Given the description of an element on the screen output the (x, y) to click on. 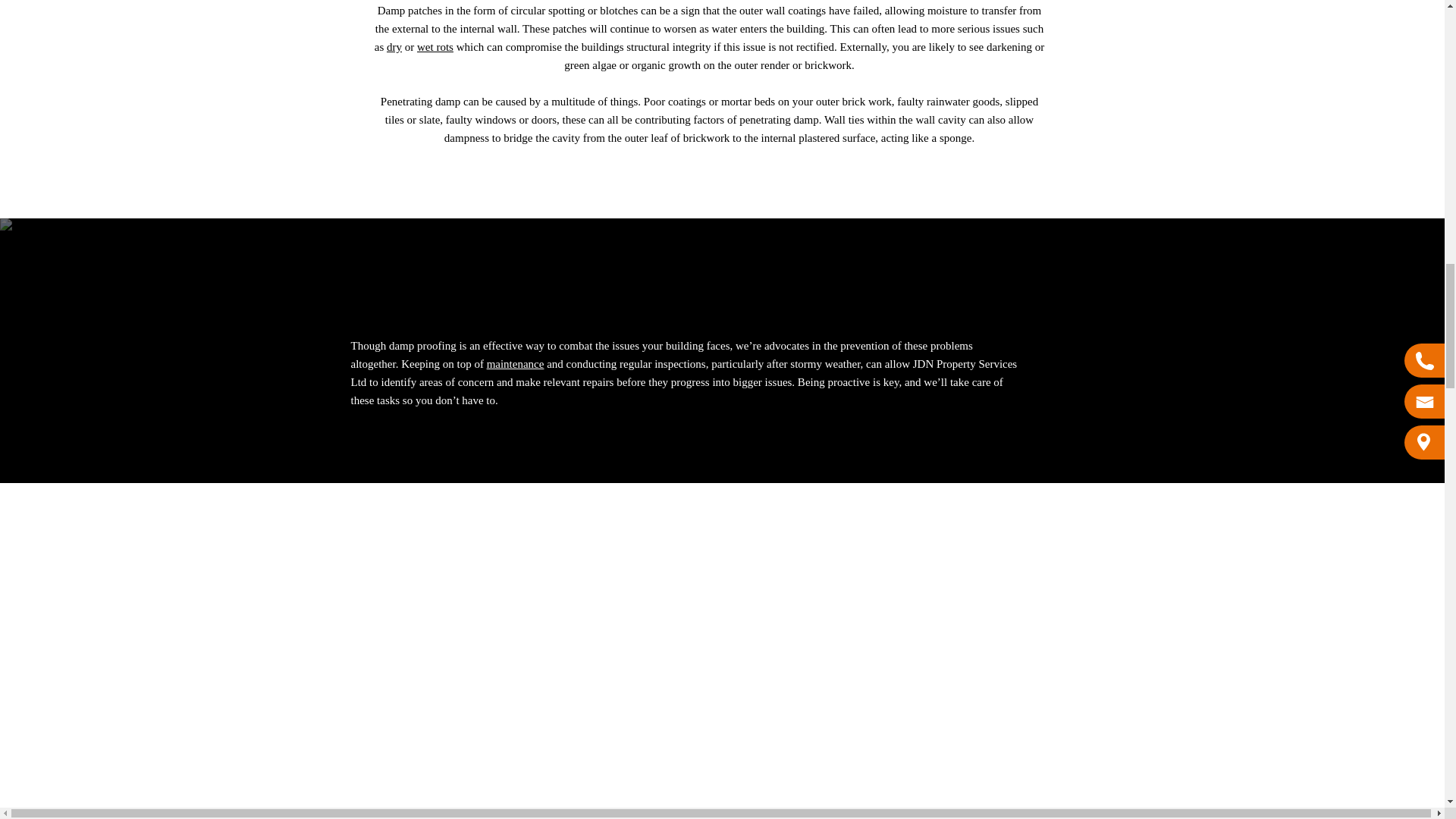
maintenance (515, 363)
dry (394, 46)
wet rots (434, 46)
